Given the description of an element on the screen output the (x, y) to click on. 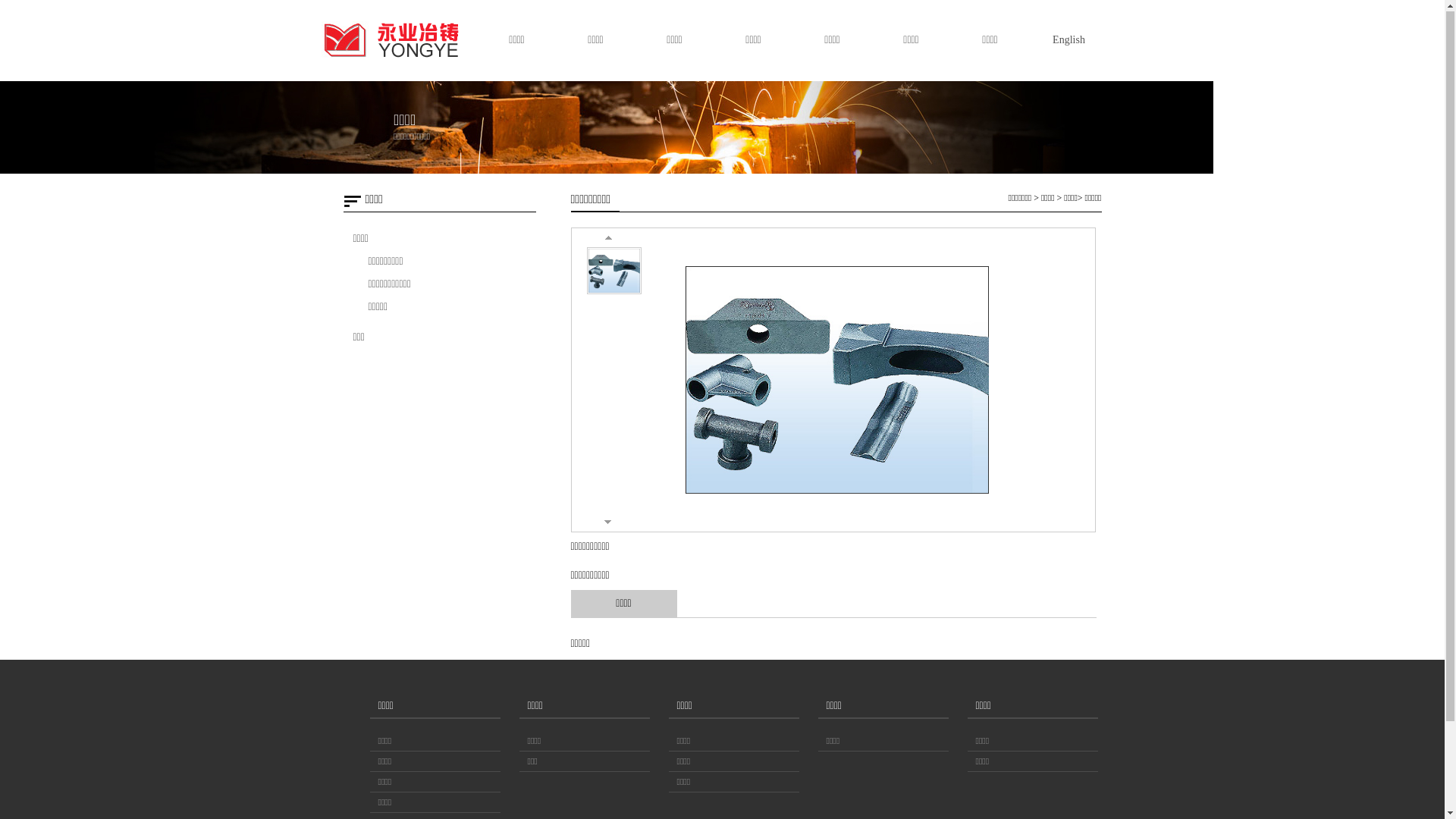
English Element type: text (1068, 40)
